Given the description of an element on the screen output the (x, y) to click on. 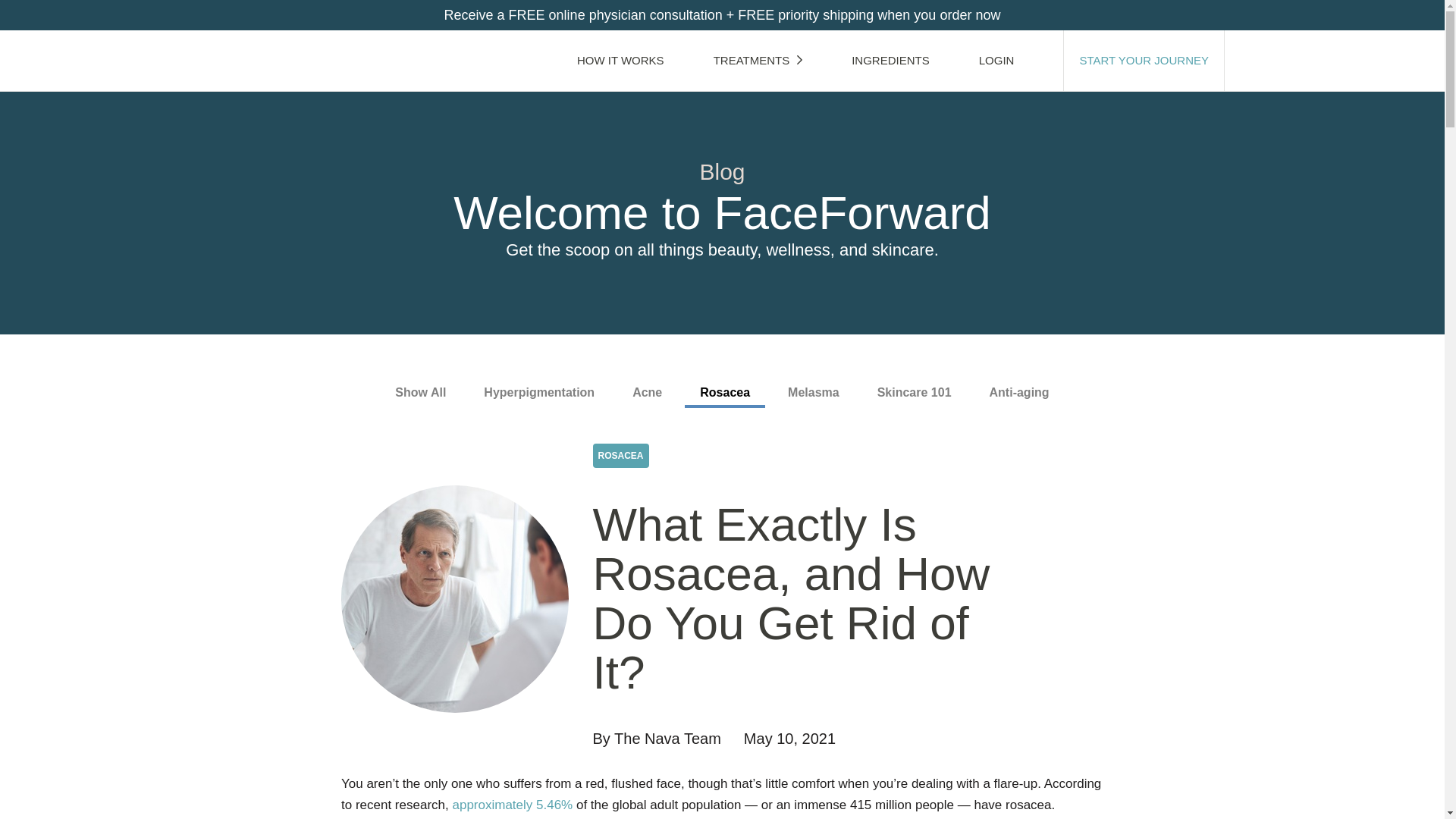
Hyperpigmentation (539, 392)
Skincare 101 (913, 392)
HOW IT WORKS (620, 60)
Rosacea (724, 393)
Show All (420, 392)
Melasma (813, 392)
Acne (647, 392)
TREATMENTS (757, 60)
INGREDIENTS (890, 60)
START YOUR JOURNEY (1143, 60)
